Given the description of an element on the screen output the (x, y) to click on. 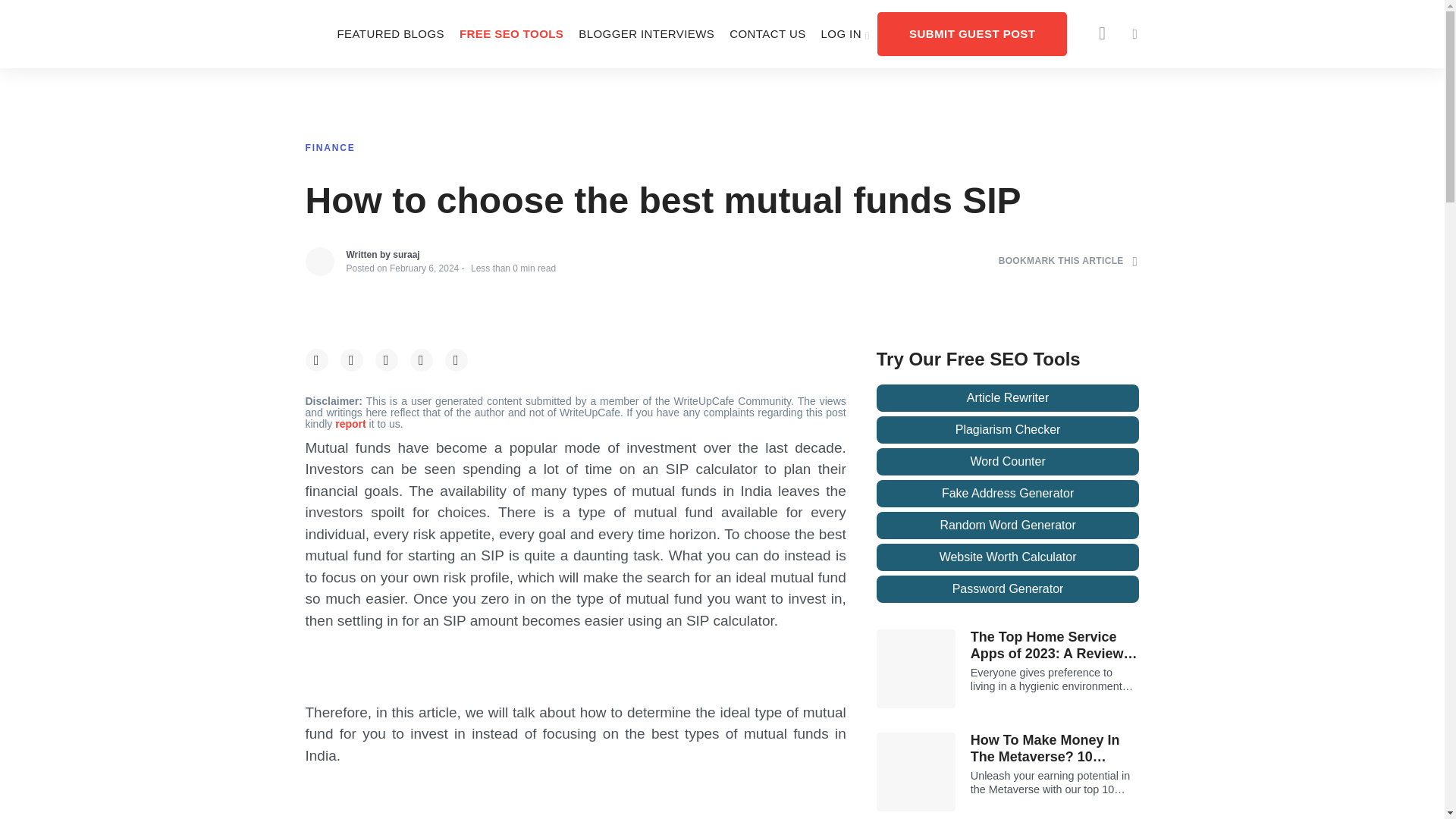
Article Rewriter (1008, 397)
LOG IN (845, 33)
BOOKMARK THIS ARTICLE (1068, 261)
Password Generator (1008, 588)
CONTACT US (767, 33)
SUBMIT GUEST POST (972, 33)
Word Counter (1008, 461)
FREE SEO TOOLS (510, 33)
The Top Home Service Apps of 2023: A Review and Comparison (1055, 645)
LOG IN (845, 33)
FINANCE (329, 147)
SUBMIT GUEST POST (972, 33)
BLOGGER INTERVIEWS (646, 33)
